Given the description of an element on the screen output the (x, y) to click on. 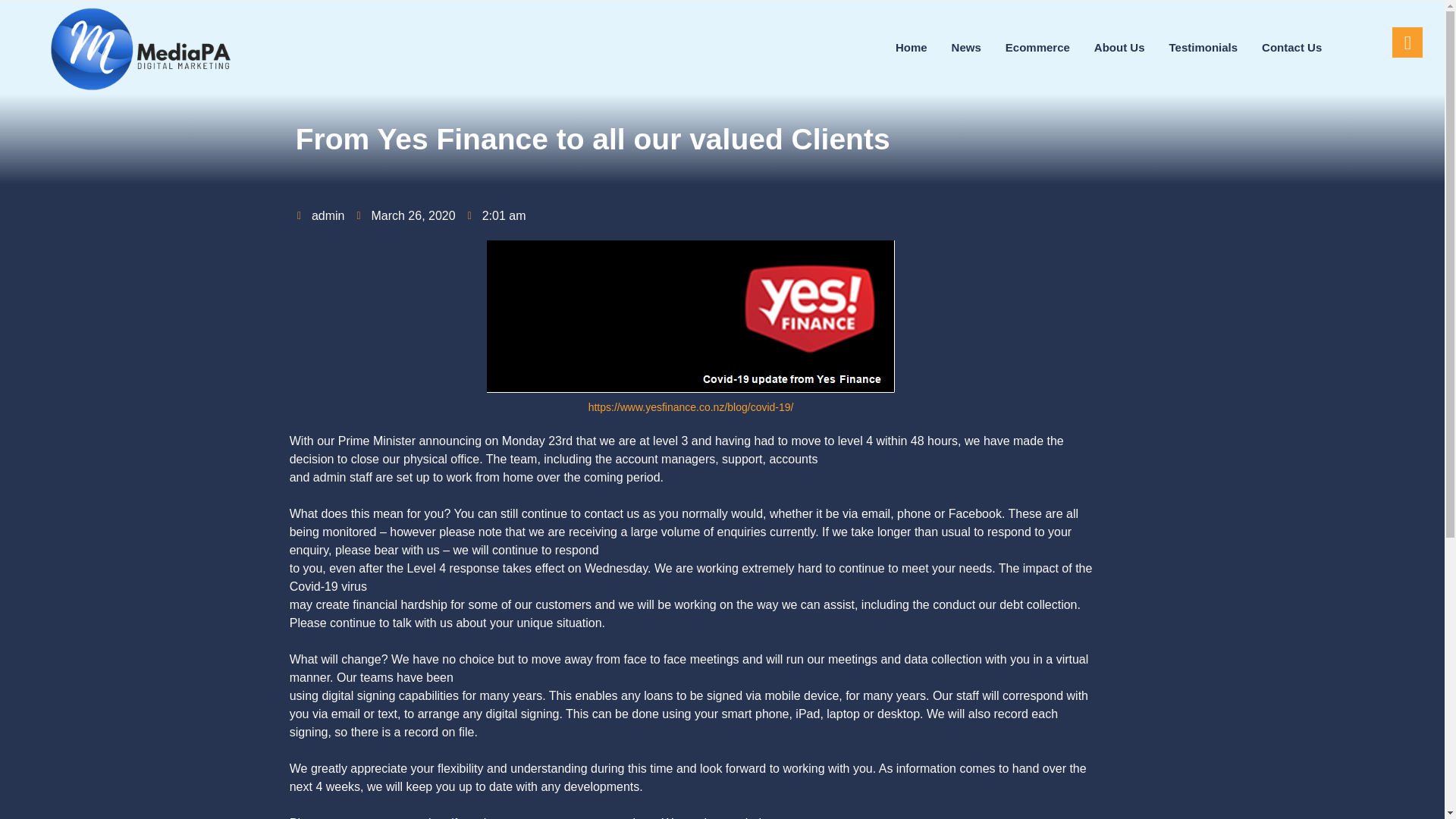
Ecommerce (1038, 46)
News (966, 46)
March 26, 2020 (405, 216)
About Us (1119, 46)
Home (911, 46)
admin (321, 216)
Testimonials (1204, 46)
Contact Us (1292, 46)
